Given the description of an element on the screen output the (x, y) to click on. 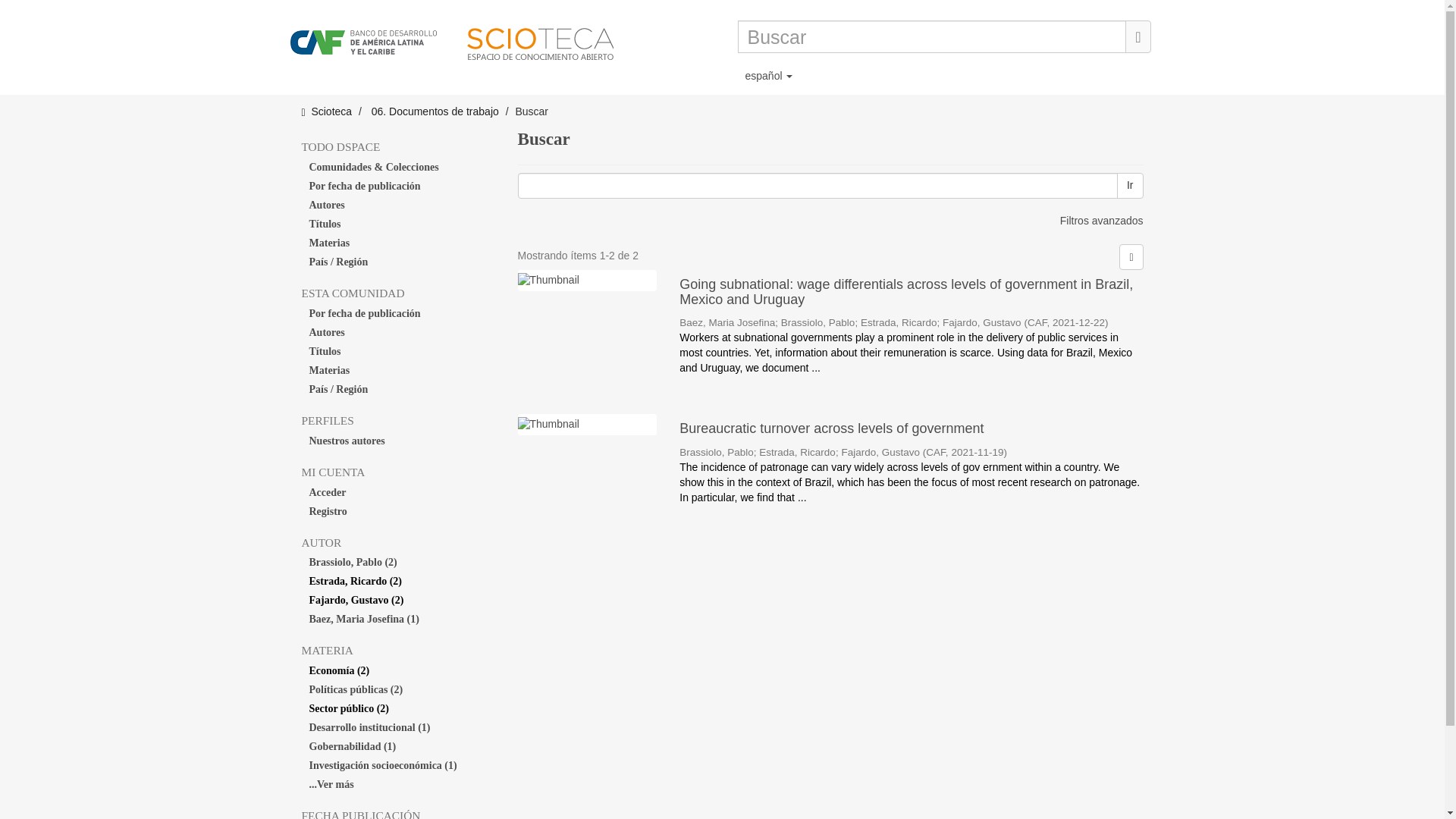
Nuestros autores (398, 441)
06. Documentos de trabajo (435, 111)
Materias (398, 243)
Materias (398, 370)
Autores (398, 205)
Autores (398, 332)
Acceder (398, 492)
Registro (398, 511)
Scioteca (331, 111)
